Given the description of an element on the screen output the (x, y) to click on. 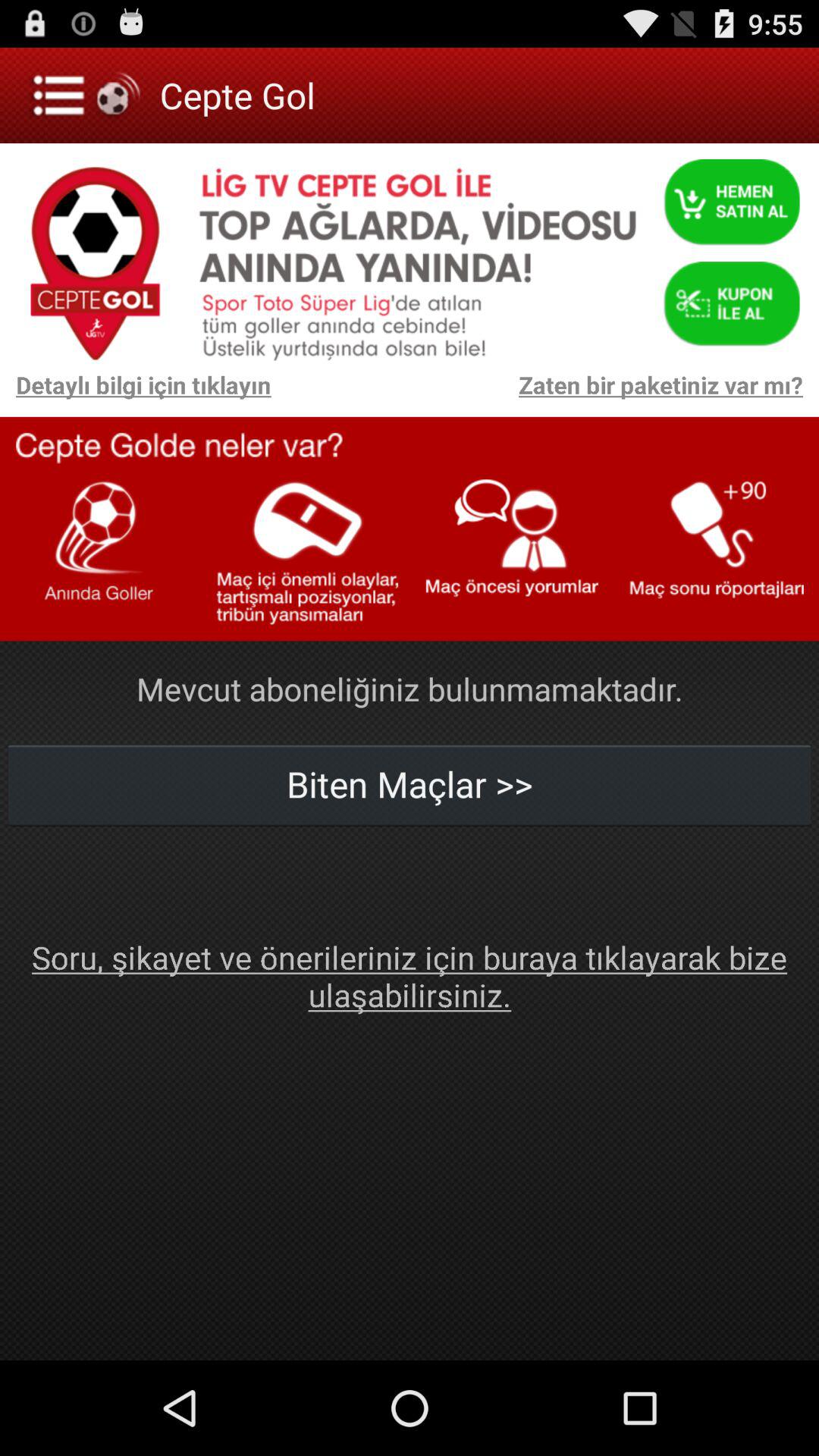
tap the item to the left of the zaten bir paketiniz app (135, 392)
